Given the description of an element on the screen output the (x, y) to click on. 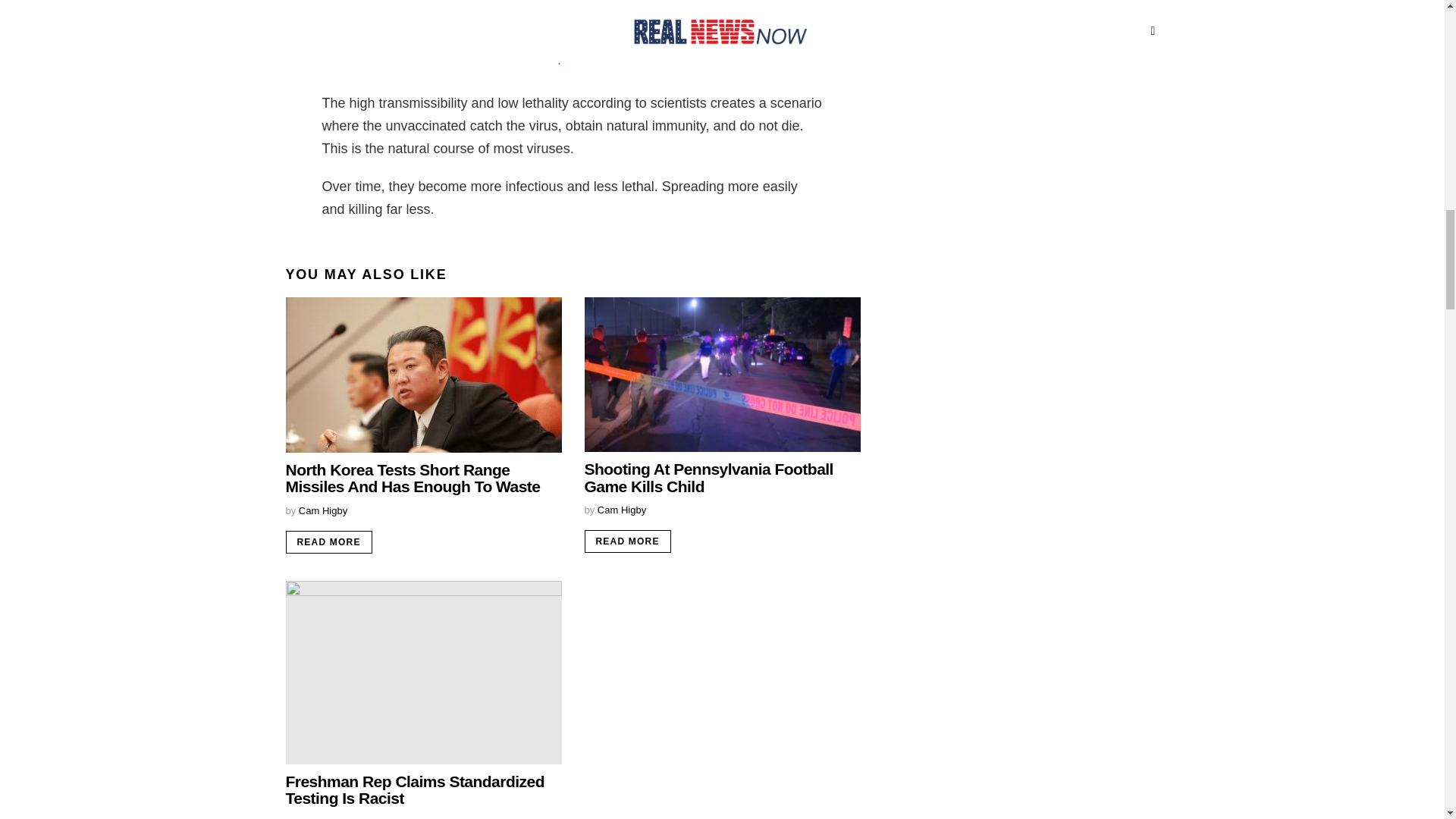
Posts by Cam Higby (322, 817)
Shooting At Pennsylvania Football Game Kills Child (721, 374)
Cam Higby (621, 509)
Shooting At Pennsylvania Football Game Kills Child (707, 477)
Cam Higby (322, 817)
March 19, 2022 (647, 44)
Posts by Cam Higby (322, 510)
READ MORE (328, 541)
